Given the description of an element on the screen output the (x, y) to click on. 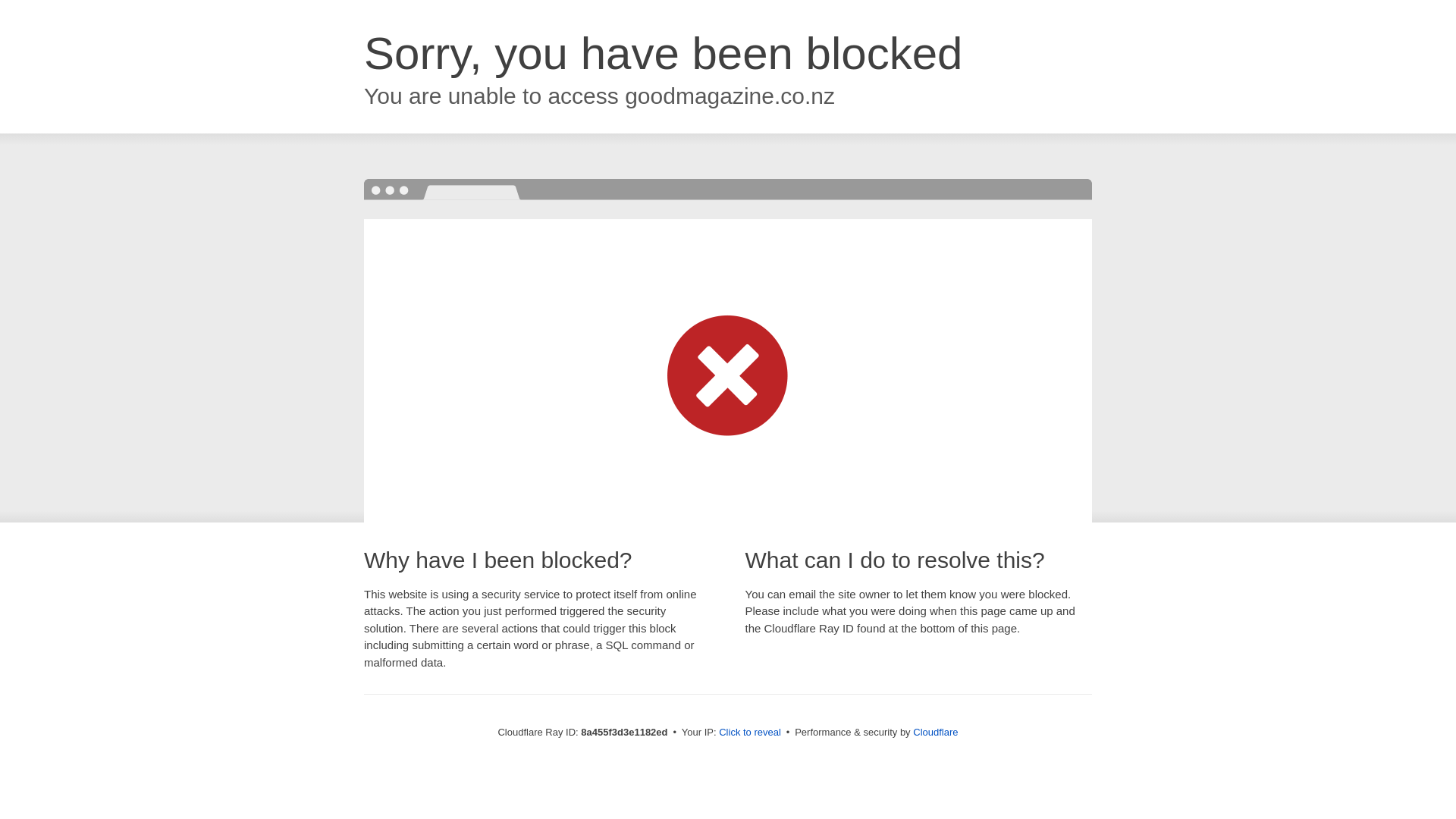
Cloudflare (935, 731)
Click to reveal (749, 732)
